Given the description of an element on the screen output the (x, y) to click on. 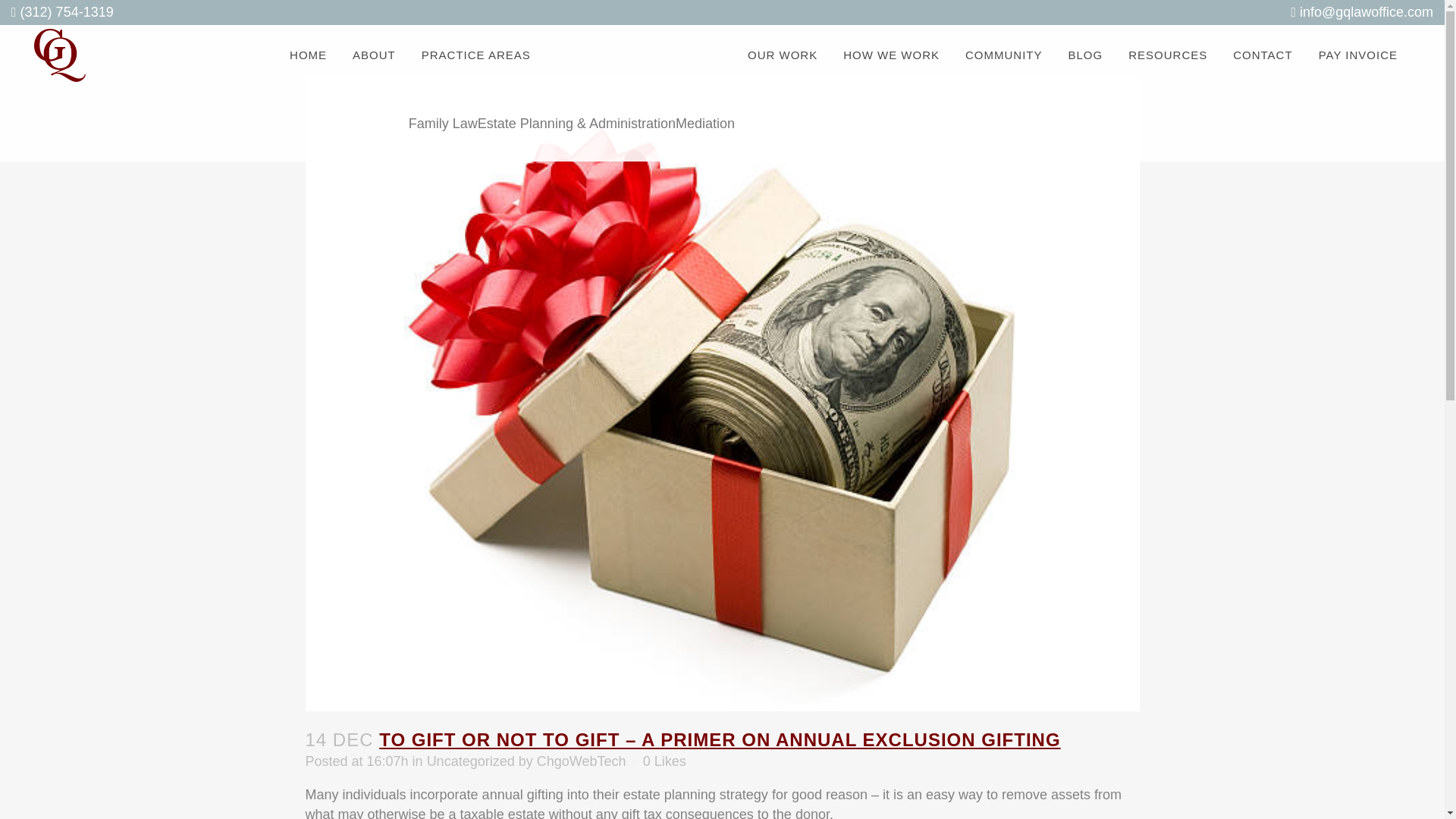
COMMUNITY (1003, 55)
Like this (664, 760)
PAY INVOICE (1358, 55)
RESOURCES (1167, 55)
ChgoWebTech (581, 761)
CONTACT (1262, 55)
Uncategorized (470, 761)
0 Likes (664, 760)
BLOG (1085, 55)
HOW WE WORK (890, 55)
Family Law (443, 123)
OUR WORK (782, 55)
ABOUT (374, 55)
HOME (307, 55)
PRACTICE AREAS (476, 55)
